Given the description of an element on the screen output the (x, y) to click on. 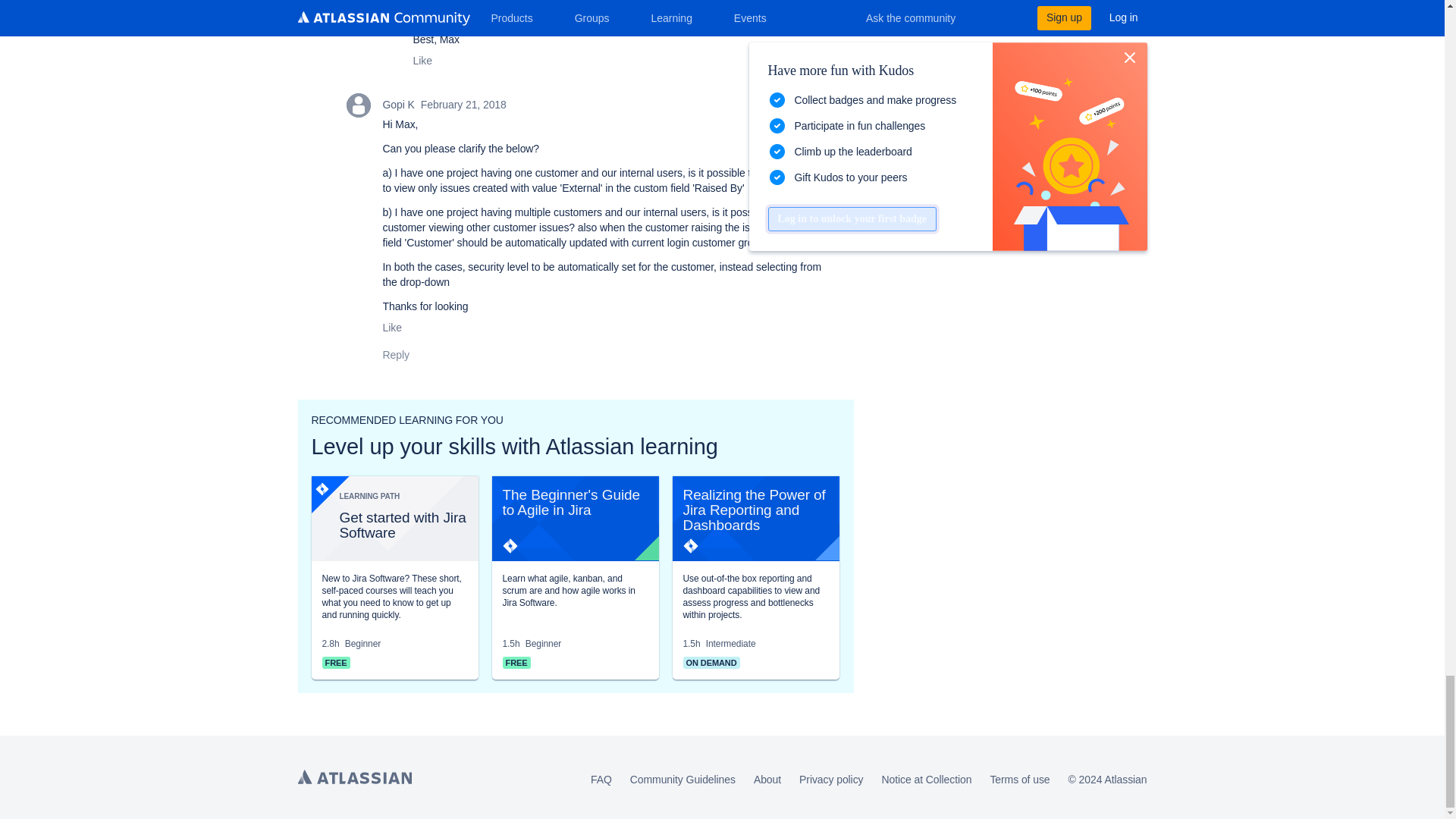
Jira Software (509, 545)
Jira Software (689, 545)
Jira Software (322, 489)
